Given the description of an element on the screen output the (x, y) to click on. 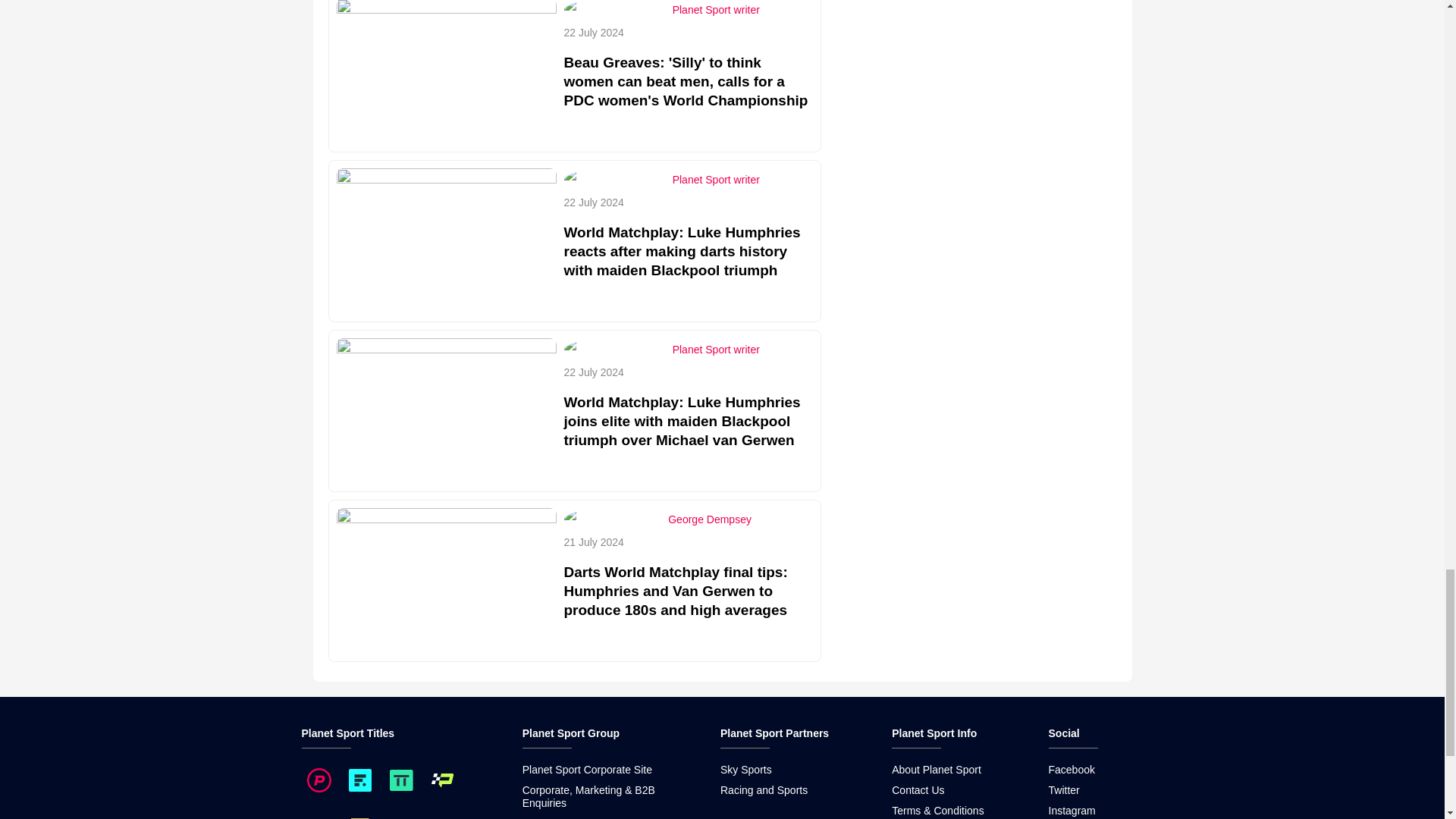
About Planet Sport (936, 769)
Planet Sport writer (716, 9)
Planet Sport writer (716, 179)
